Given the description of an element on the screen output the (x, y) to click on. 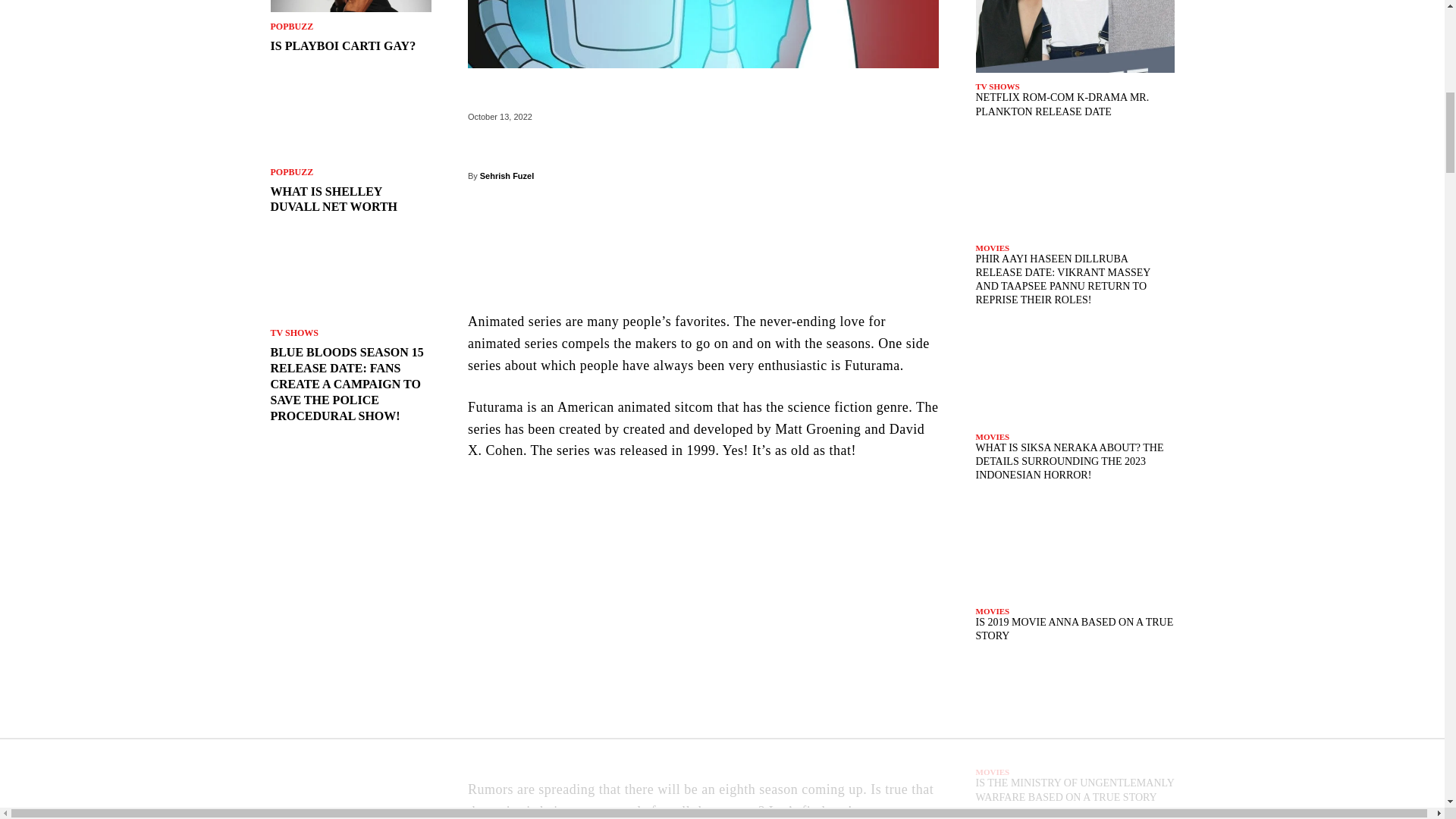
POPBUZZ (291, 26)
TV SHOWS (293, 332)
POPBUZZ (291, 171)
WHAT IS SHELLEY DUVALL NET WORTH (333, 199)
IS PLAYBOI CARTI GAY? (341, 45)
